Given the description of an element on the screen output the (x, y) to click on. 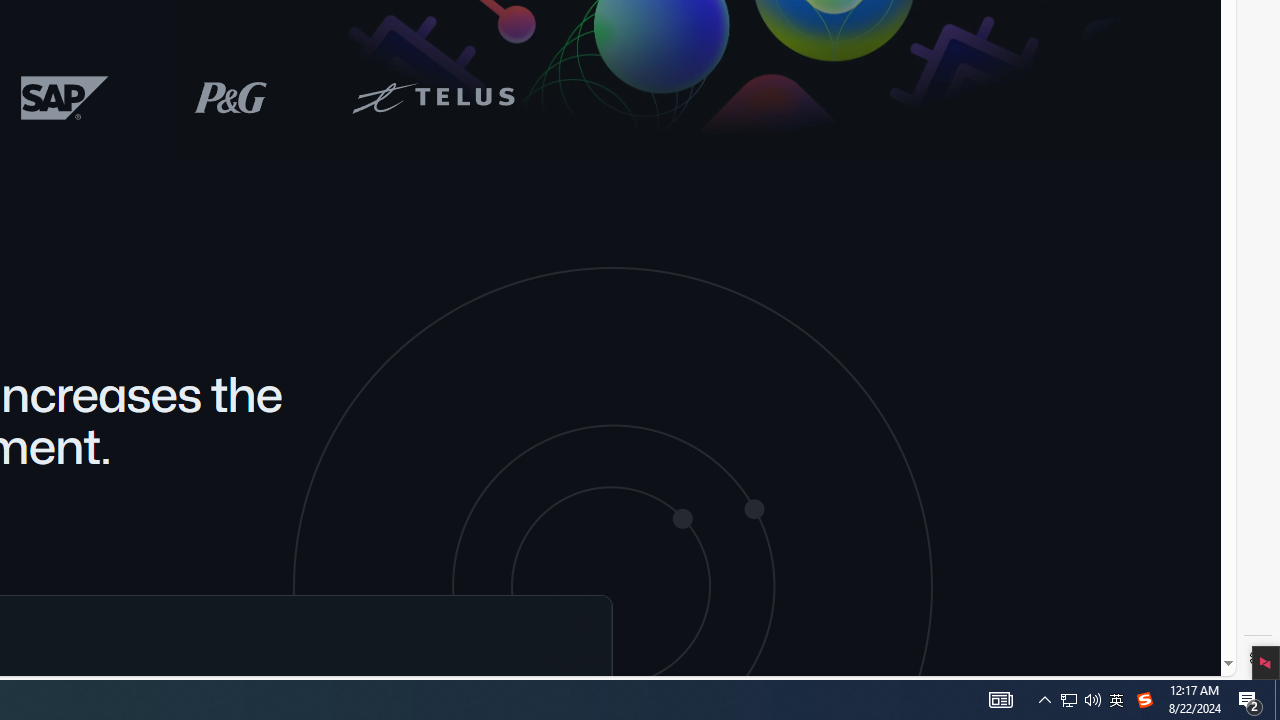
SAP logo (65, 97)
P&G logo (230, 96)
Telus logo (432, 96)
